Given the description of an element on the screen output the (x, y) to click on. 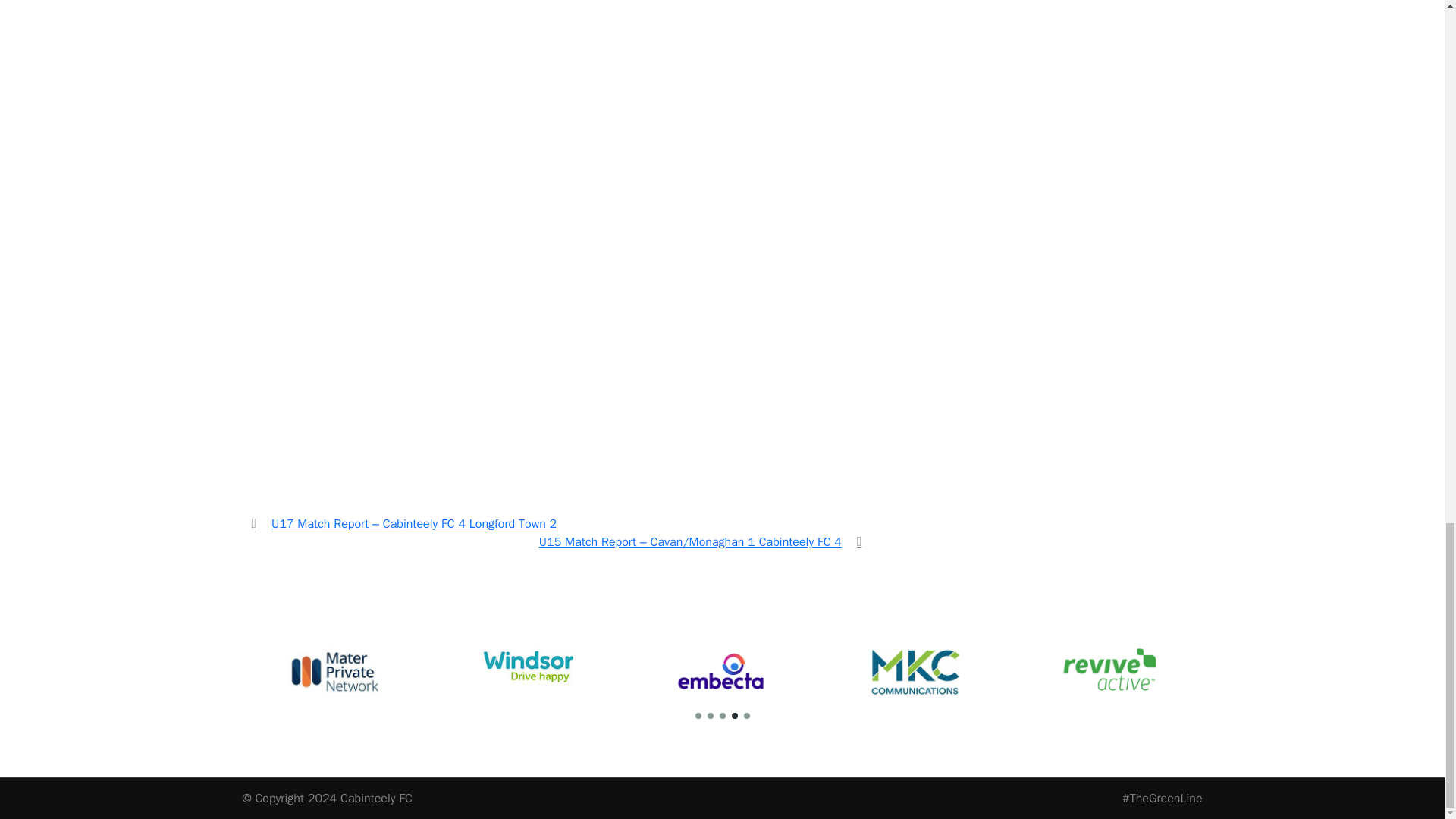
6CCB4978-E5B9-4602-BBB2-5D45D01674A7 (795, 140)
94020A7B-77C4-4FBD-8261-611B5E0E9FD6 (637, 140)
BBD2A40C-2E6A-4F85-88BE-A9DB5776474E (637, 33)
676AF6CA-1FB3-47BD-8479-34D25E88C960 (321, 402)
9CC1F03A-D863-4968-92B4-6BE127923D20 (795, 33)
2DD14C59-A073-415C-90DD-9EEAFDA60AD7 (795, 271)
B41381DF-DE7D-4301-B3BD-178BE2E88482 (479, 33)
4EC9A33E-509E-45BF-96C7-3D9F0231CAEE (479, 271)
65AA7AD2-07E8-48DF-8E76-9C60C8282455 (321, 33)
9C69242C-08E8-46FB-A281-6C412BF66BB1 (637, 271)
6036E876-8851-470D-AE18-D07993E6CD6F (321, 140)
86F309A7-E3D0-4F8C-90CD-0EF84F58A6F4 (479, 402)
45A7C4C9-3639-4C91-96C6-0D4404F36F40 (321, 271)
DC9C6AD6-CF2A-490E-A36B-29311A2EA94D (479, 140)
